Given the description of an element on the screen output the (x, y) to click on. 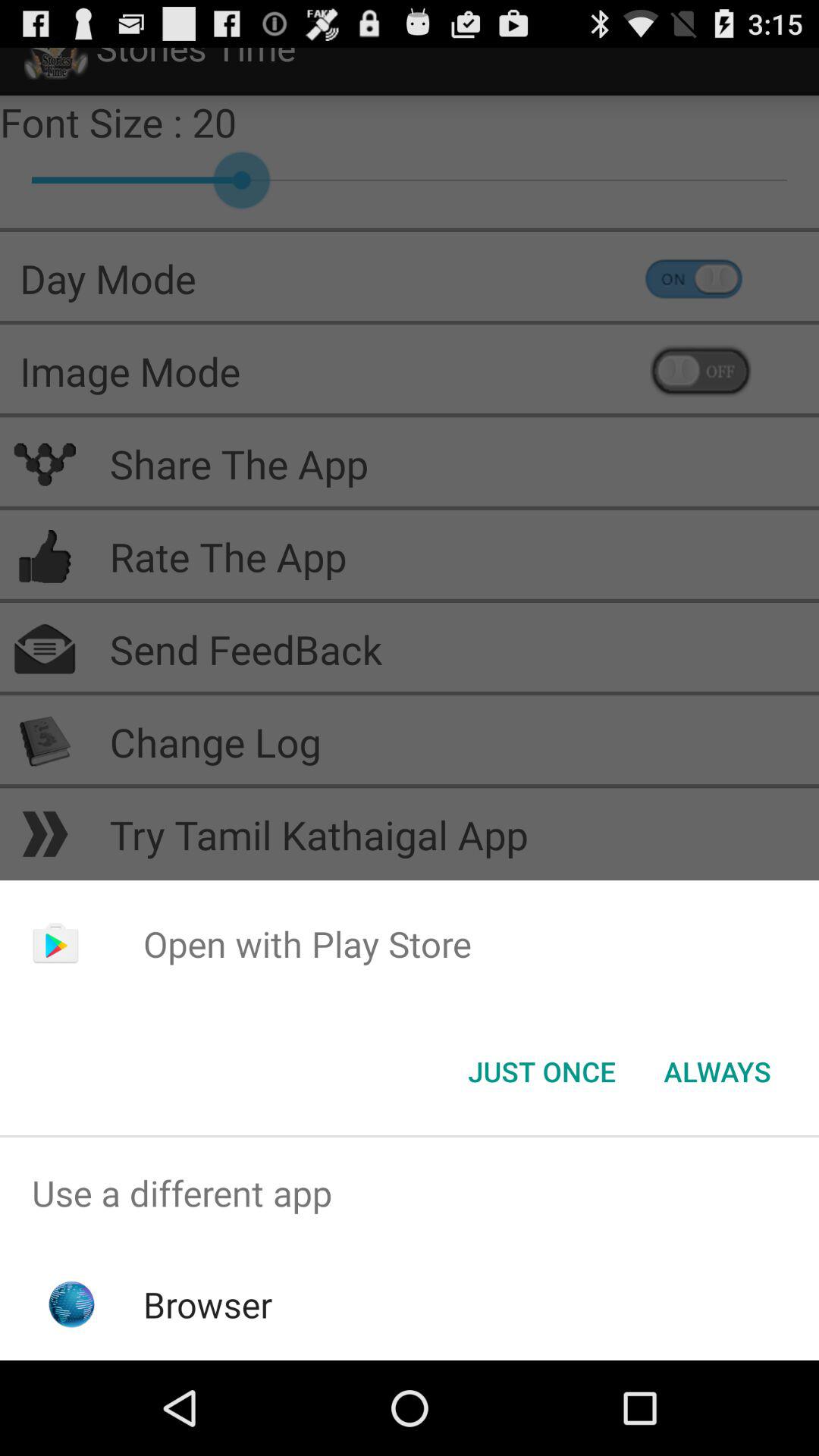
swipe until always icon (717, 1071)
